Given the description of an element on the screen output the (x, y) to click on. 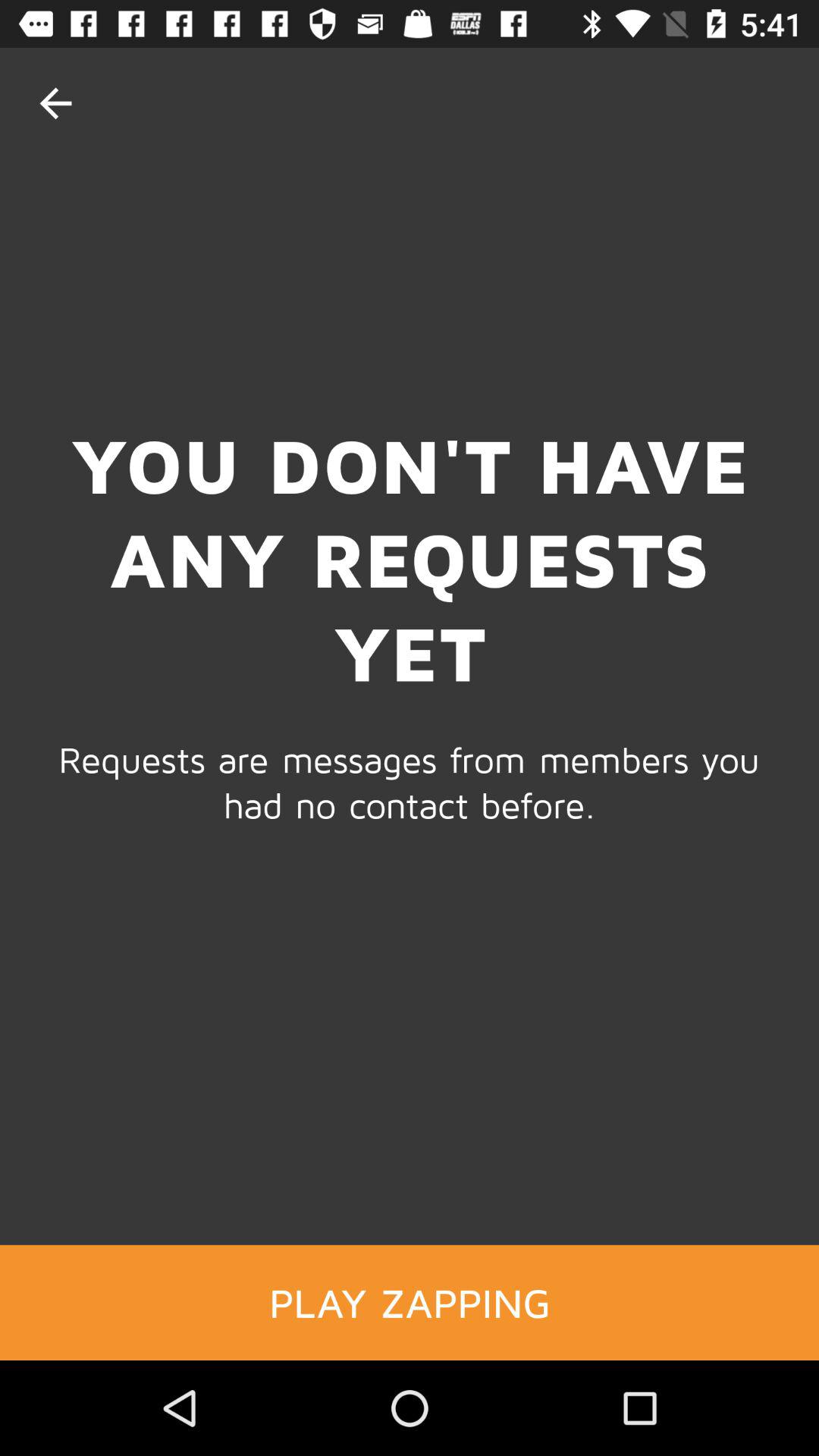
click play zapping (409, 1302)
